Given the description of an element on the screen output the (x, y) to click on. 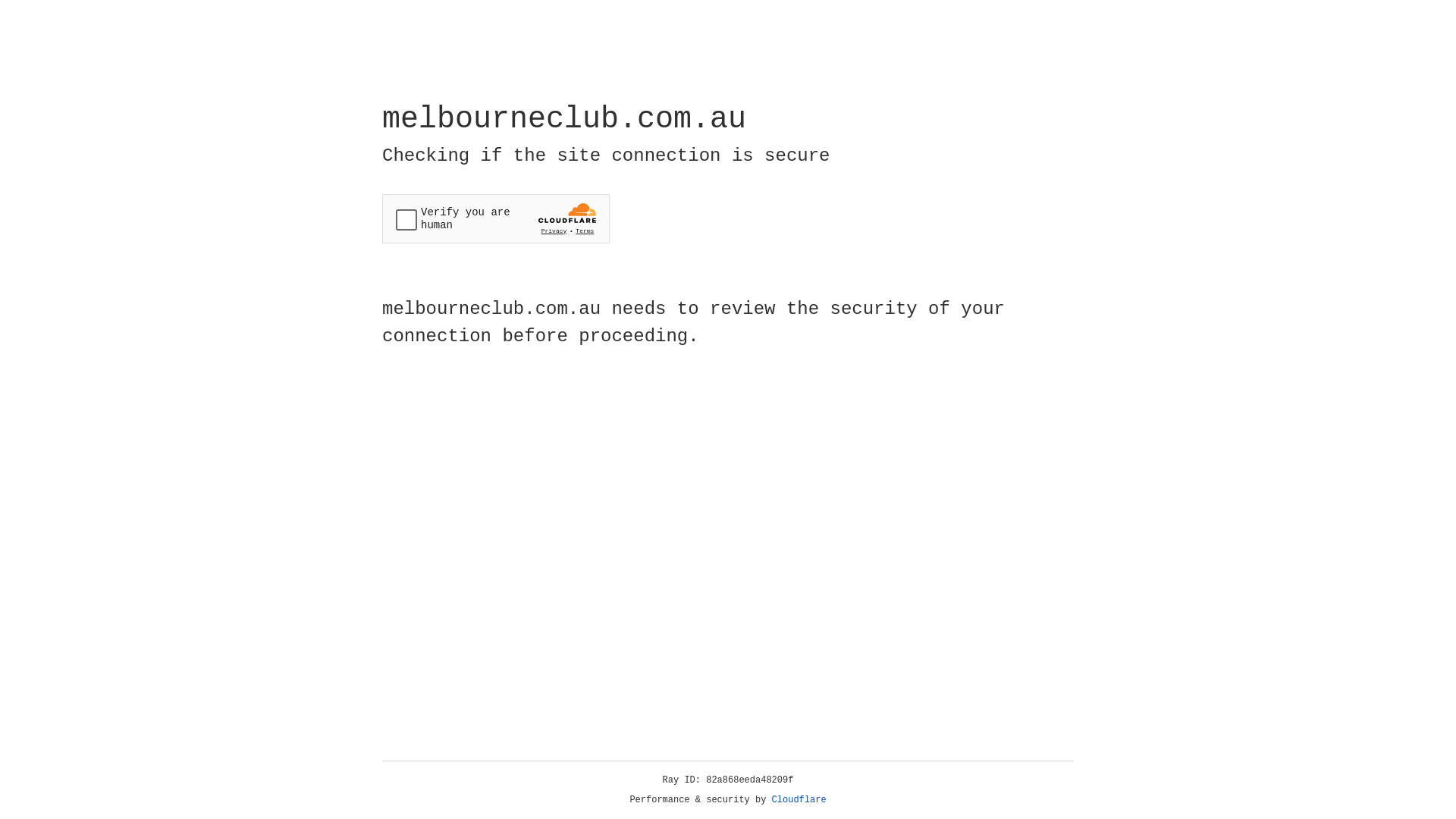
Widget containing a Cloudflare security challenge Element type: hover (495, 218)
Cloudflare Element type: text (798, 799)
